Given the description of an element on the screen output the (x, y) to click on. 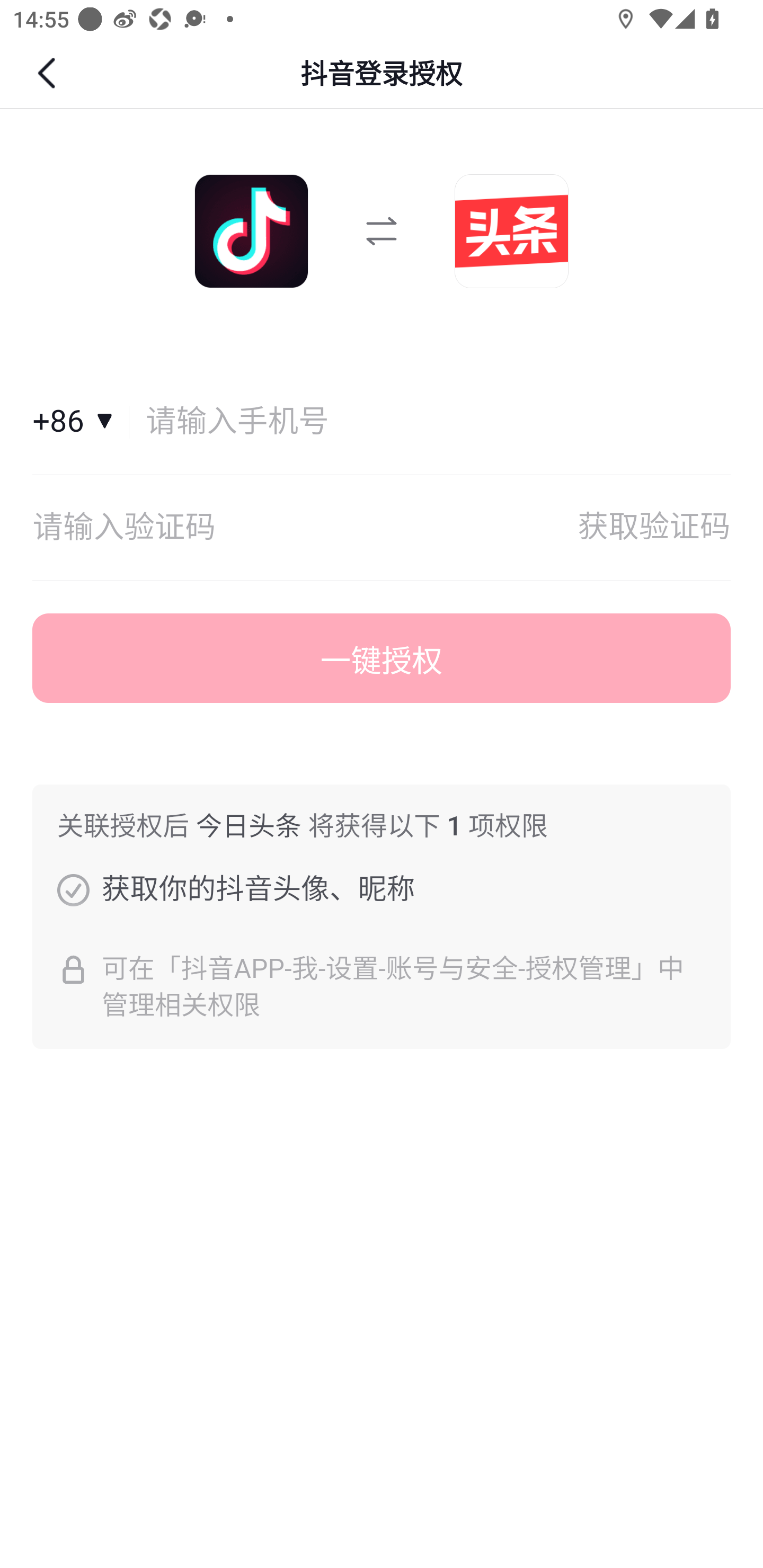
返回 (49, 72)
国家和地区+86 (81, 421)
获取验证码 (653, 527)
一键授权 (381, 658)
获取你的抖音头像、昵称 (72, 889)
